Given the description of an element on the screen output the (x, y) to click on. 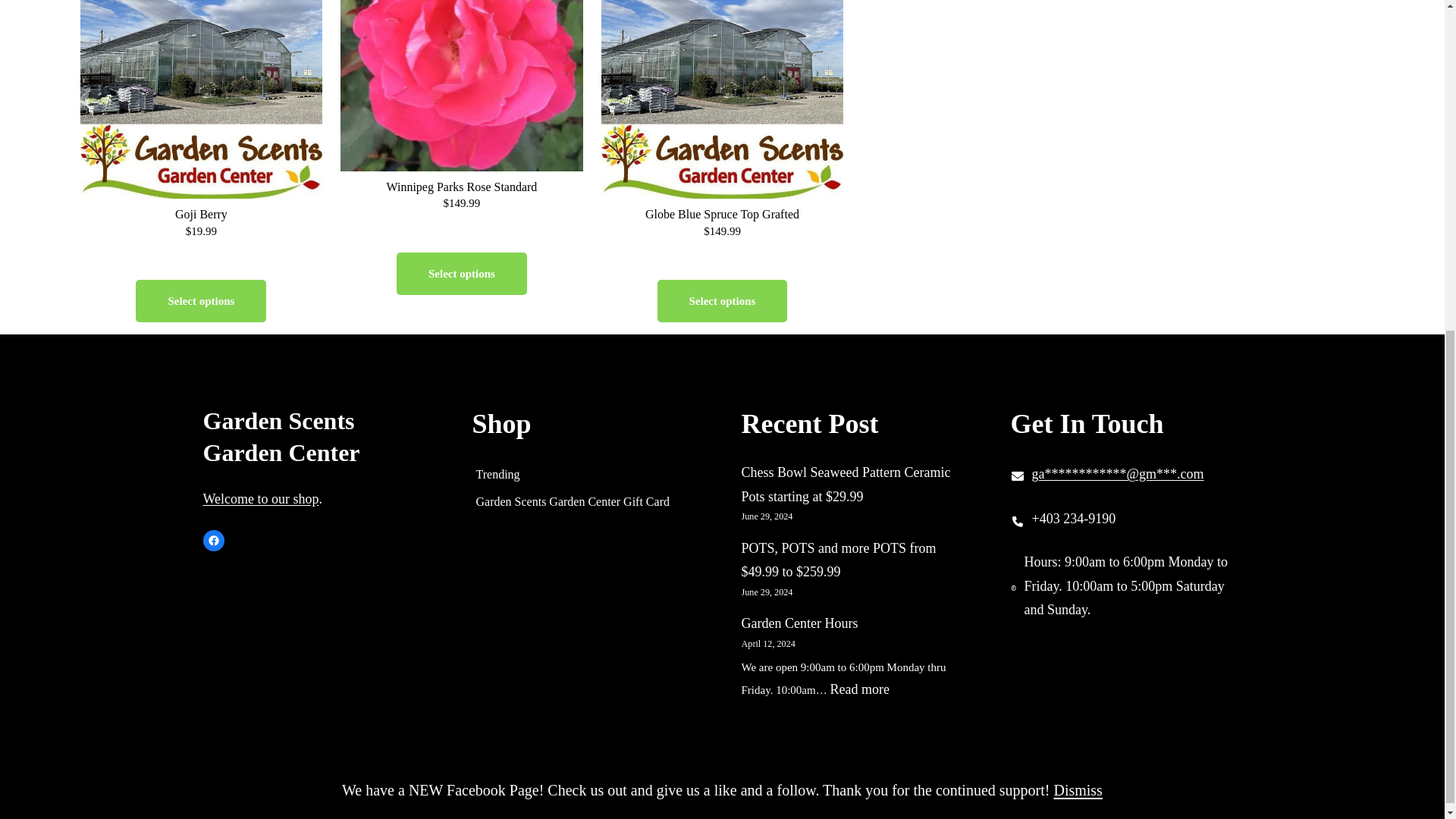
Garden Scents Garden Center (281, 436)
Garden Scents Garden Center (143, 804)
Facebook (213, 540)
Winnipeg Parks Rose Standard (461, 187)
Goji Berry (200, 214)
Trending (497, 474)
Garden Center Hours (800, 622)
Select options (461, 272)
Welcome to our shop (260, 498)
Select options (722, 301)
Globe Blue Spruce Top Grafted (722, 214)
Select options (200, 301)
Garden Scents Garden Center Gift Card (572, 501)
